Given the description of an element on the screen output the (x, y) to click on. 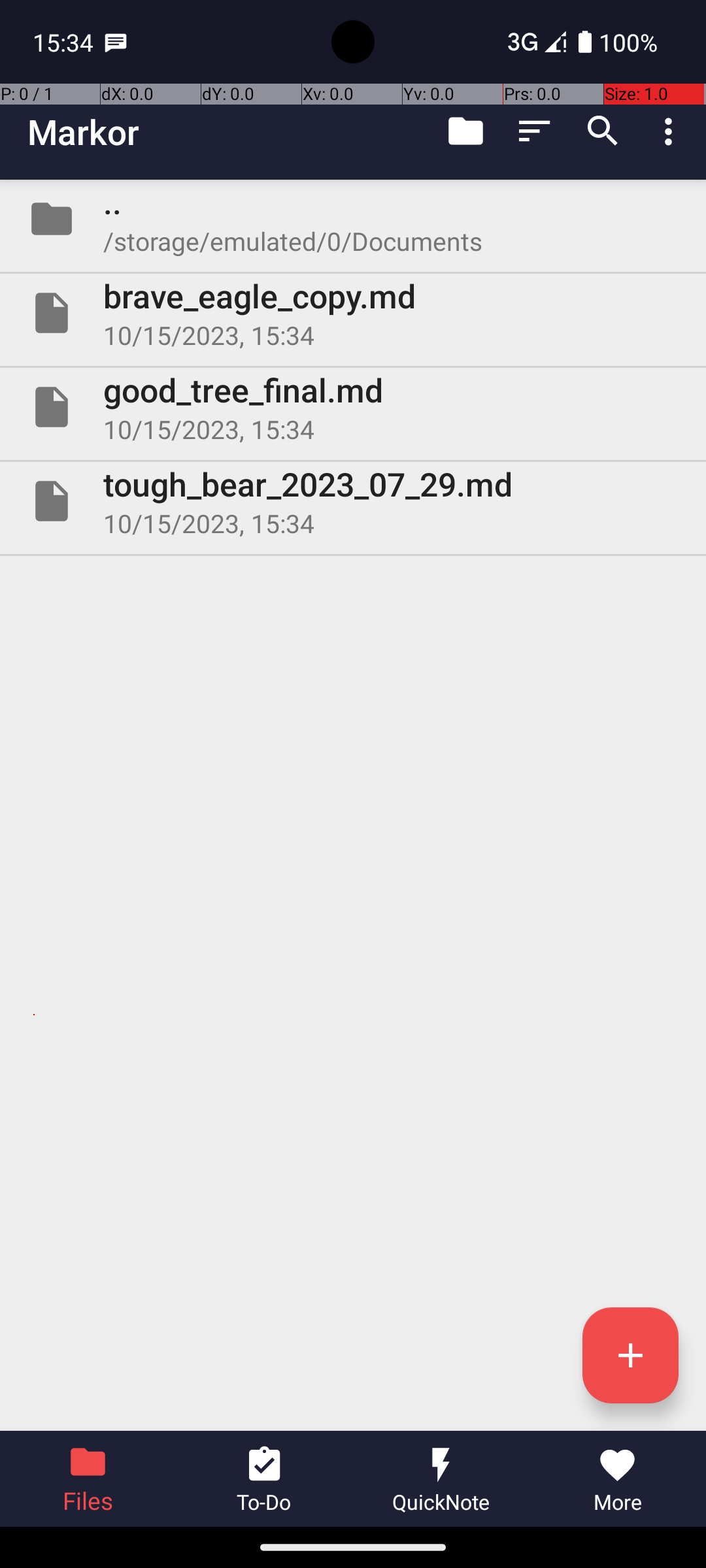
File brave_eagle_copy.md  Element type: android.widget.LinearLayout (353, 312)
File good_tree_final.md  Element type: android.widget.LinearLayout (353, 406)
File tough_bear_2023_07_29.md  Element type: android.widget.LinearLayout (353, 500)
